Given the description of an element on the screen output the (x, y) to click on. 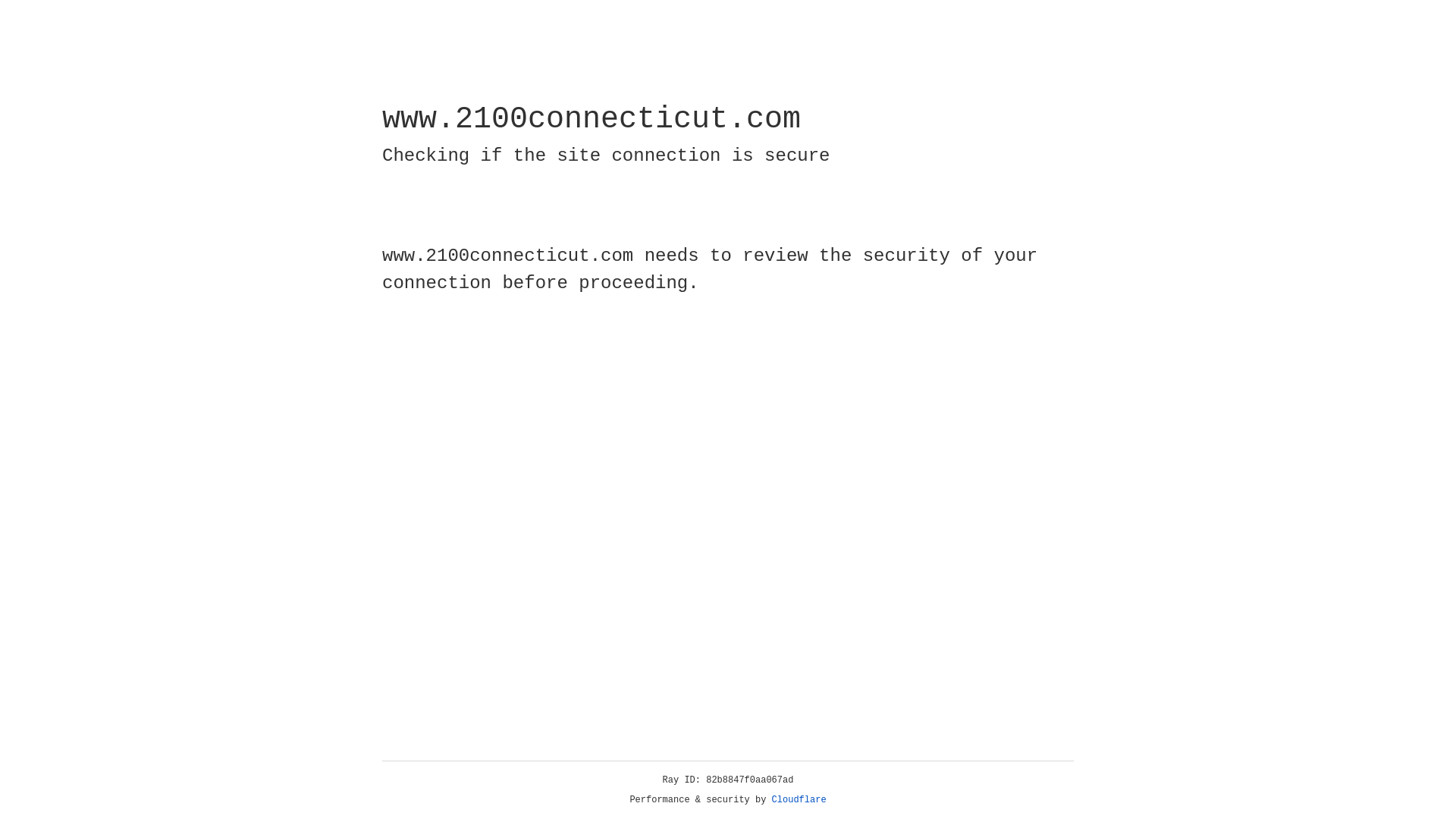
Cloudflare Element type: text (798, 799)
